Given the description of an element on the screen output the (x, y) to click on. 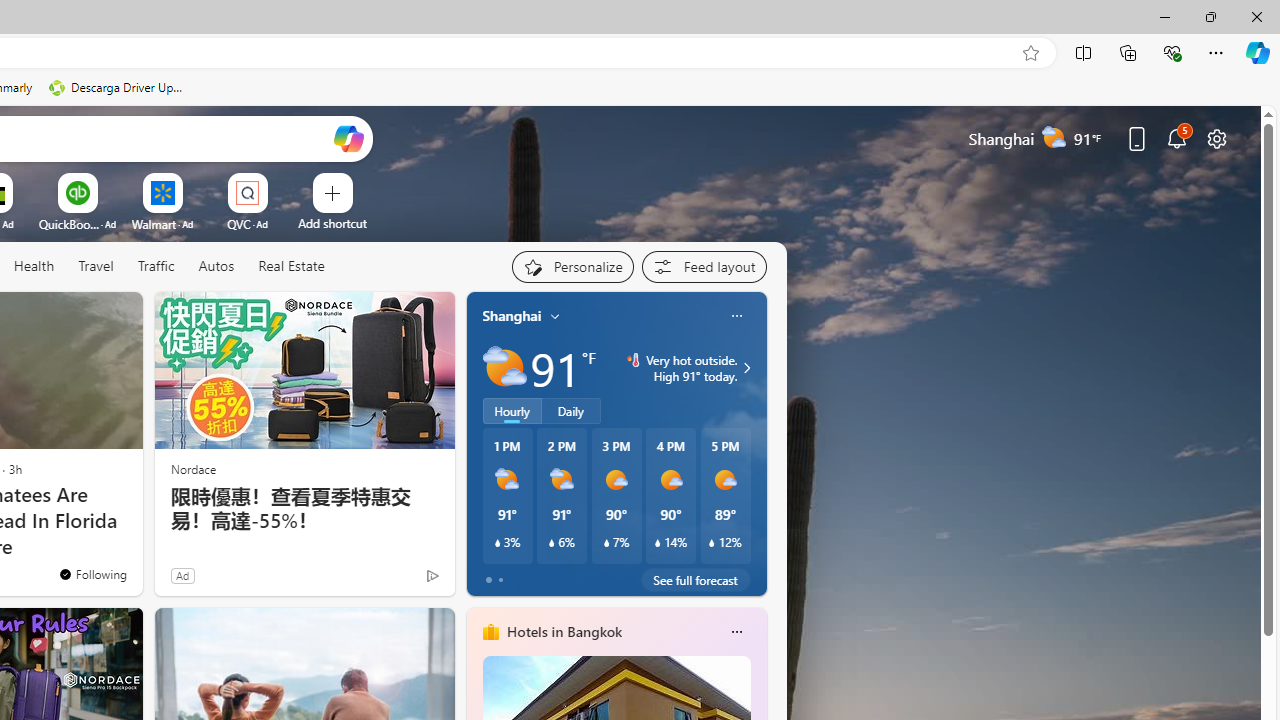
Hourly (511, 411)
My location (555, 315)
Page settings (1216, 138)
You're following The Weather Channel (92, 573)
